Given the description of an element on the screen output the (x, y) to click on. 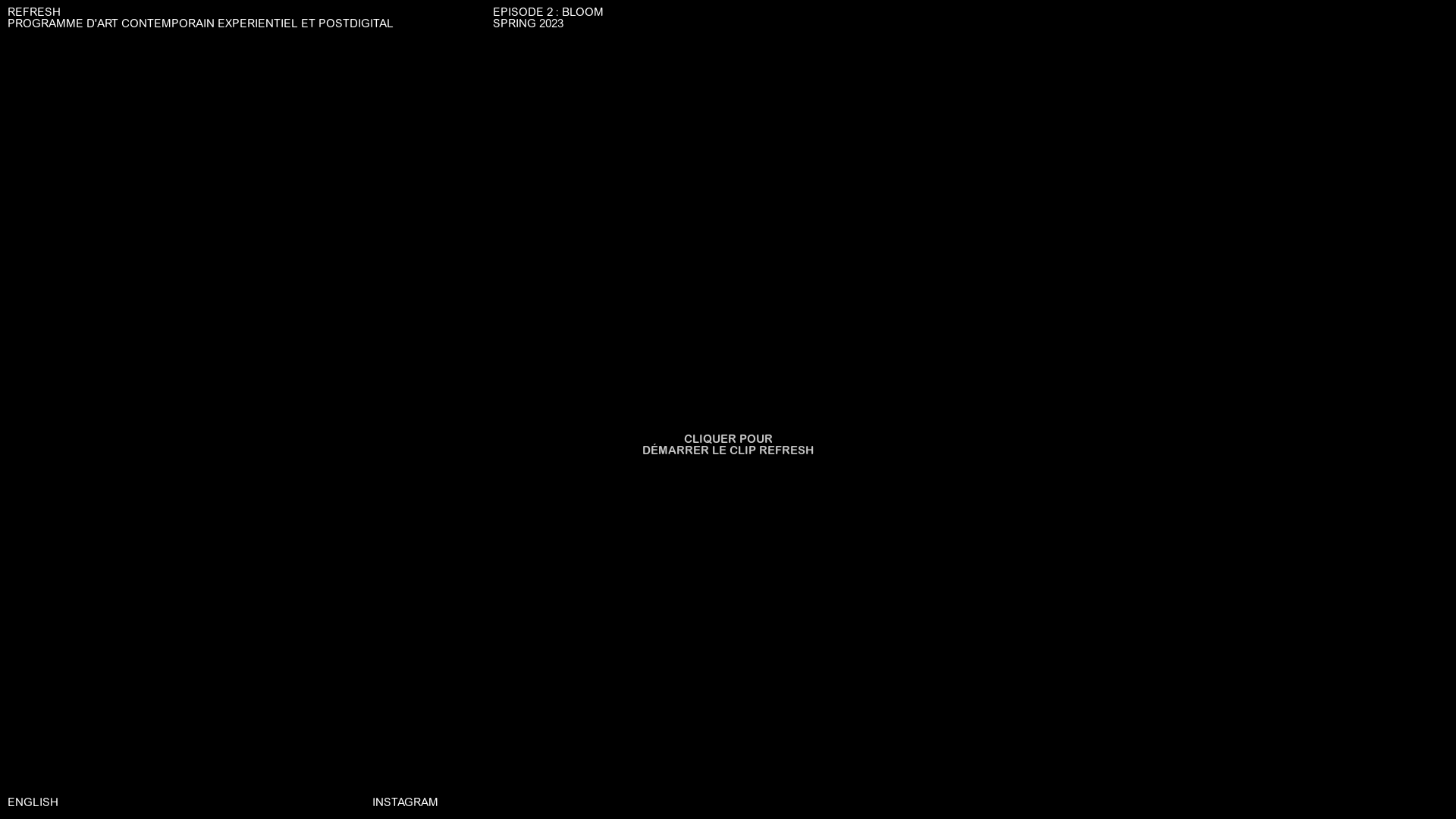
INSTAGRAM Element type: text (405, 803)
ENGLISH Element type: text (32, 803)
